Given the description of an element on the screen output the (x, y) to click on. 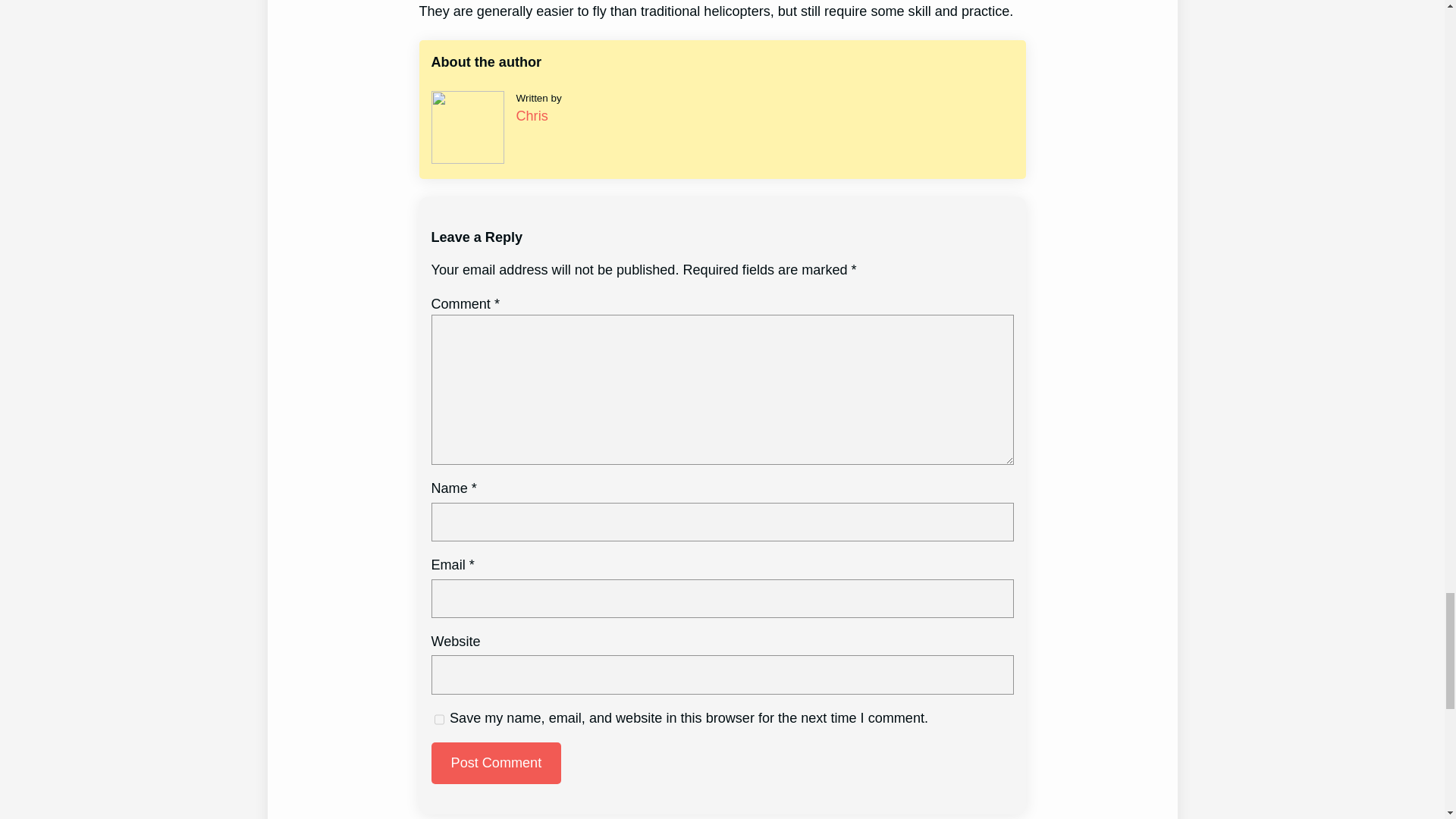
Chris (531, 115)
Post Comment (495, 762)
Post Comment (495, 762)
